Given the description of an element on the screen output the (x, y) to click on. 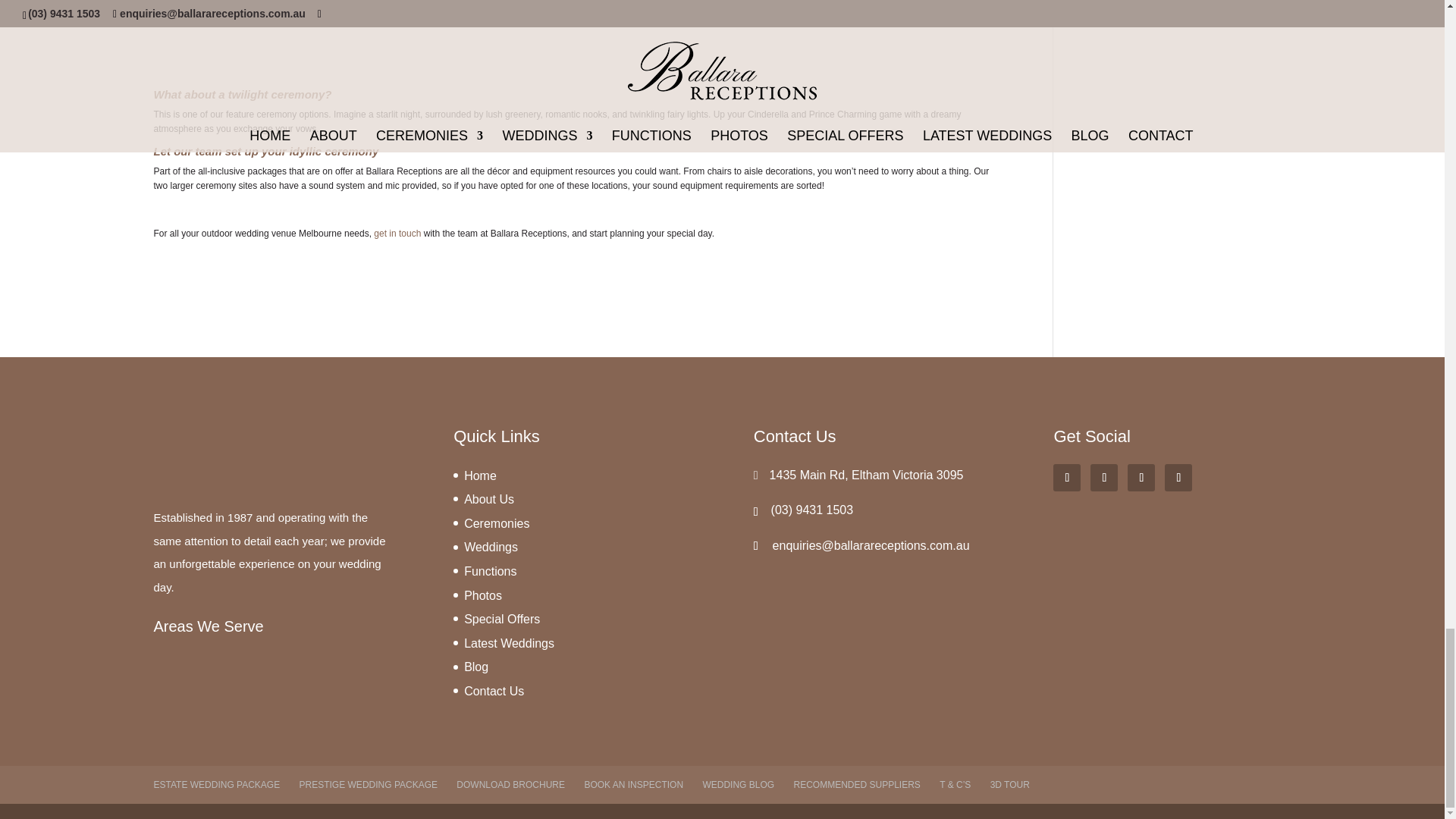
Follow on Instagram (1178, 477)
Follow on Pinterest (1104, 477)
Follow on Facebook (1066, 477)
Follow on Youtube (1140, 477)
